Given the description of an element on the screen output the (x, y) to click on. 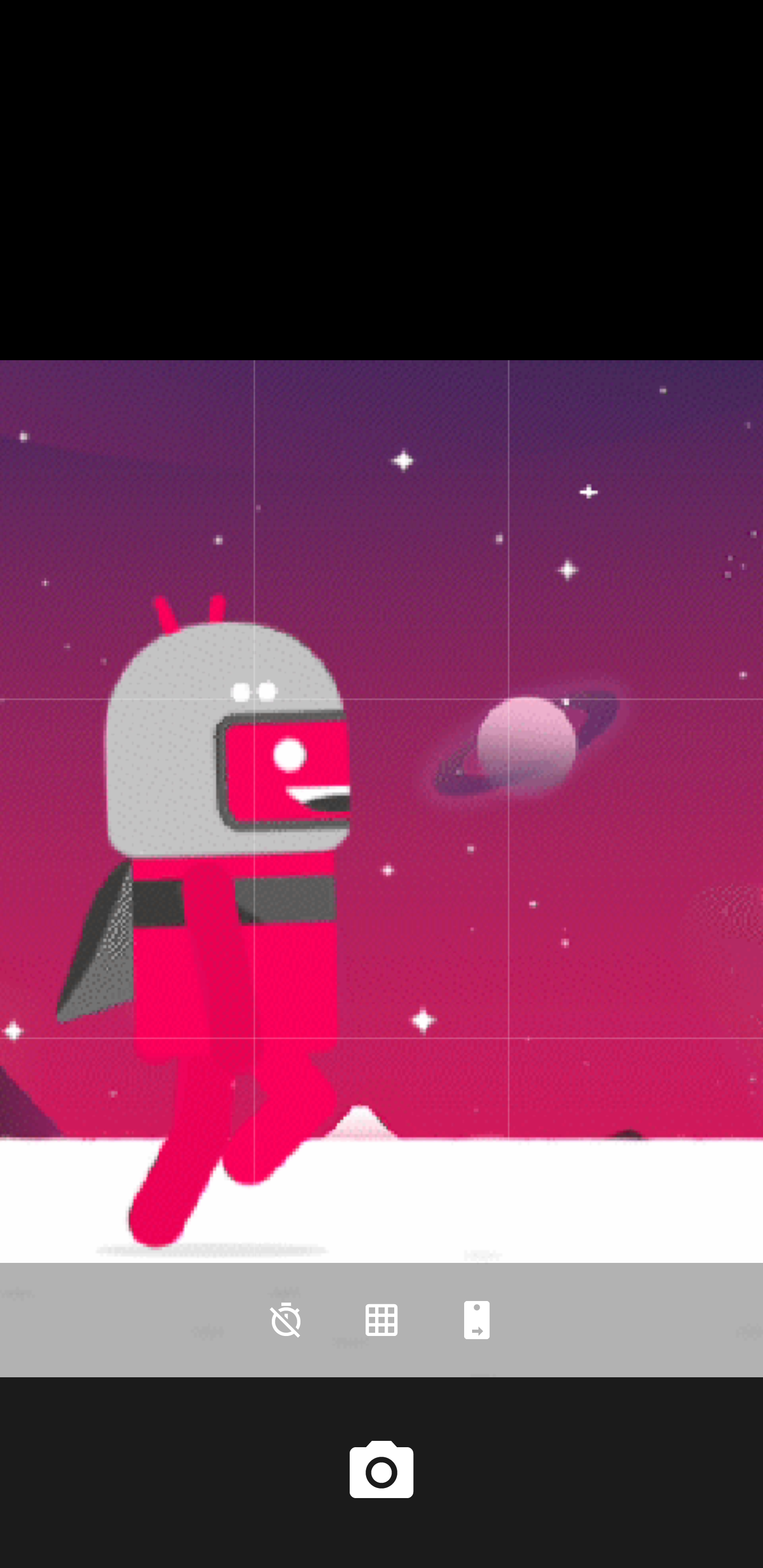
Countdown timer is off (285, 1319)
Grid lines on (381, 1319)
Back camera (476, 1319)
Shutter (381, 1472)
